Given the description of an element on the screen output the (x, y) to click on. 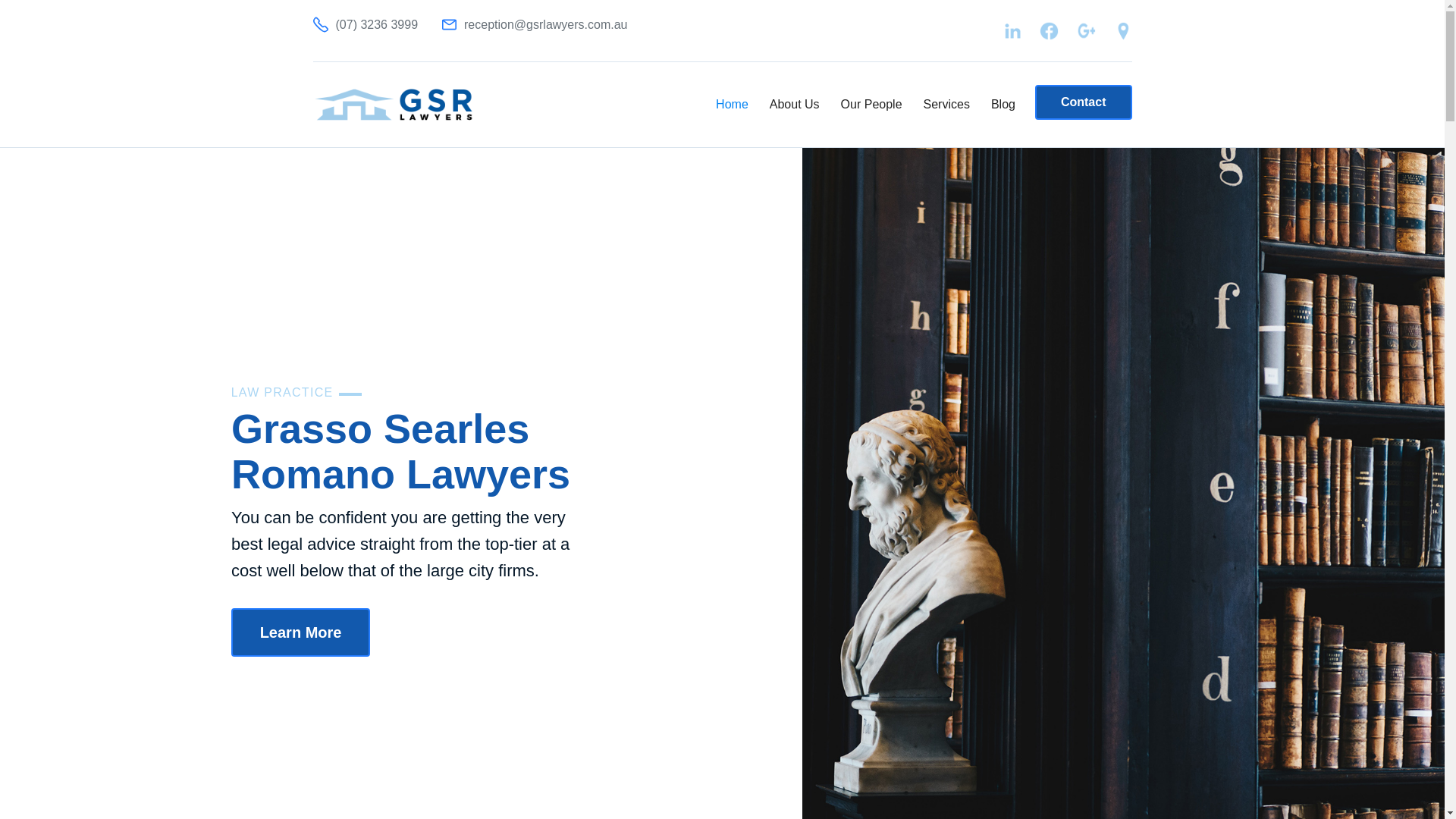
Learn More Element type: text (300, 632)
Blog Element type: text (1003, 104)
Contact Element type: text (1083, 101)
reception@gsrlawyers.com.au Element type: text (534, 24)
Our People Element type: text (871, 104)
Services Element type: text (946, 104)
(07) 3236 3999 Element type: text (364, 24)
Home Element type: text (732, 104)
About Us Element type: text (794, 104)
